Given the description of an element on the screen output the (x, y) to click on. 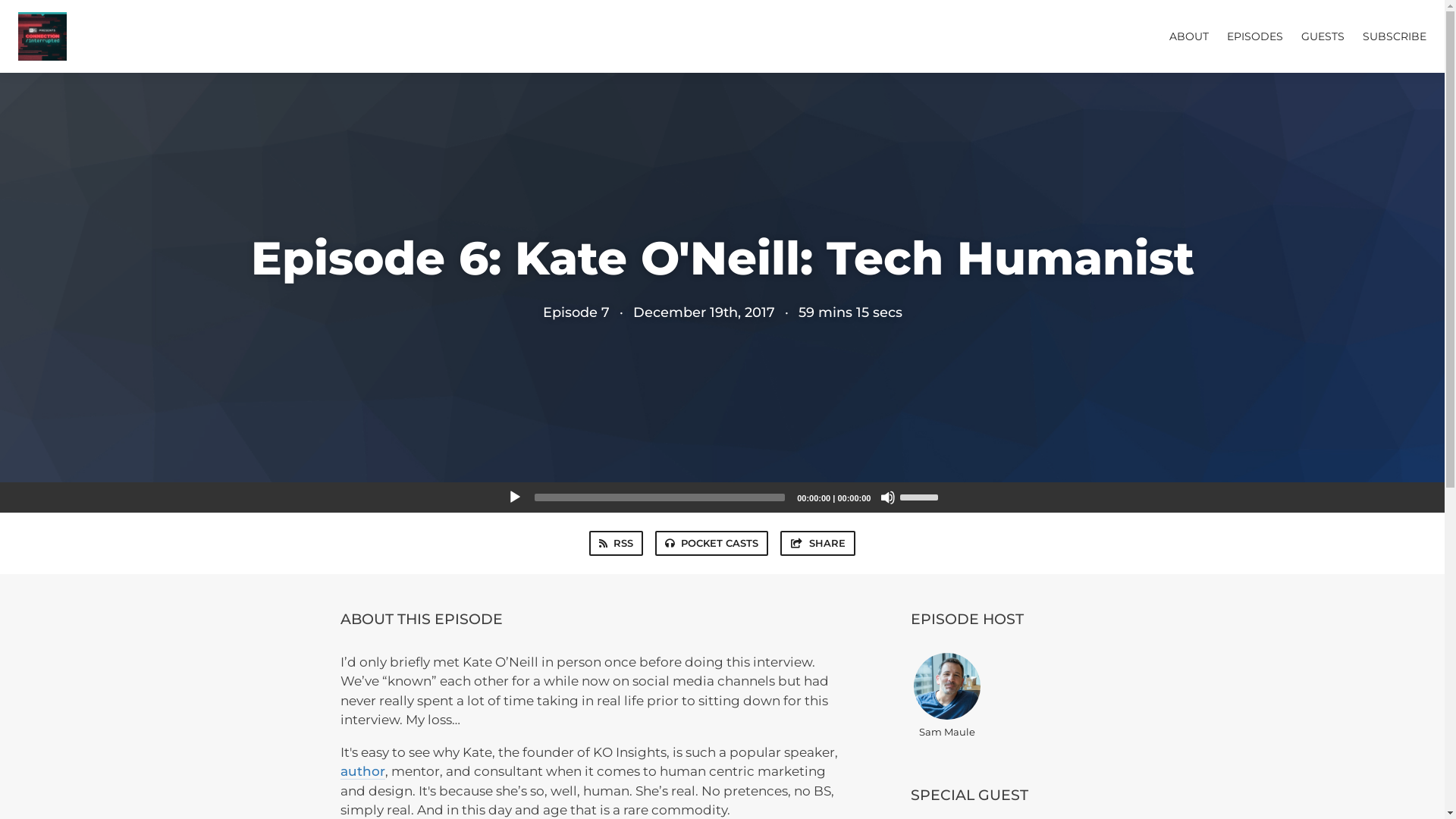
Sam Maule Element type: text (946, 694)
RSS Element type: text (616, 542)
EPISODES Element type: text (1254, 36)
SUBSCRIBE Element type: text (1394, 36)
author Element type: text (361, 770)
GUESTS Element type: text (1322, 36)
ABOUT Element type: text (1188, 36)
Use Up/Down Arrow keys to increase or decrease volume. Element type: text (920, 495)
Mute Element type: hover (886, 497)
POCKET CASTS Element type: text (711, 542)
Play Element type: hover (513, 497)
SHARE Element type: text (817, 542)
